Given the description of an element on the screen output the (x, y) to click on. 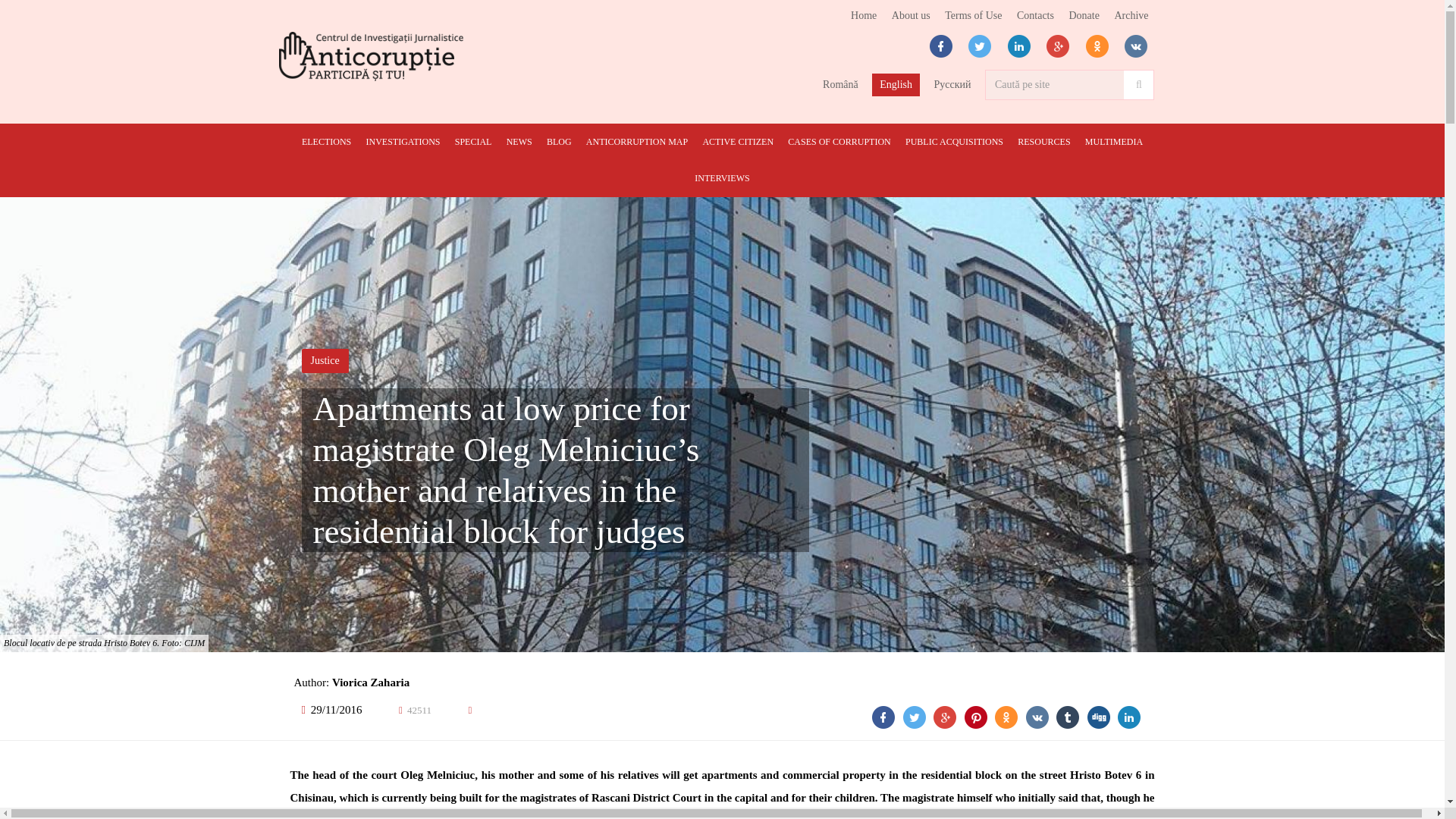
Archive (1130, 14)
SPECIAL (473, 141)
PUBLIC ACQUISITIONS (954, 141)
Contacts (1035, 14)
Terms of Use (973, 14)
INVESTIGATIONS (402, 141)
BLOG (559, 141)
NEWS (519, 141)
ACTIVE CITIZEN (737, 141)
Donate (1082, 14)
MULTIMEDIA (1113, 141)
ANTICORRUPTION MAP (636, 141)
CASES OF CORRUPTION (838, 141)
ELECTIONS (325, 141)
RESOURCES (1043, 141)
